Given the description of an element on the screen output the (x, y) to click on. 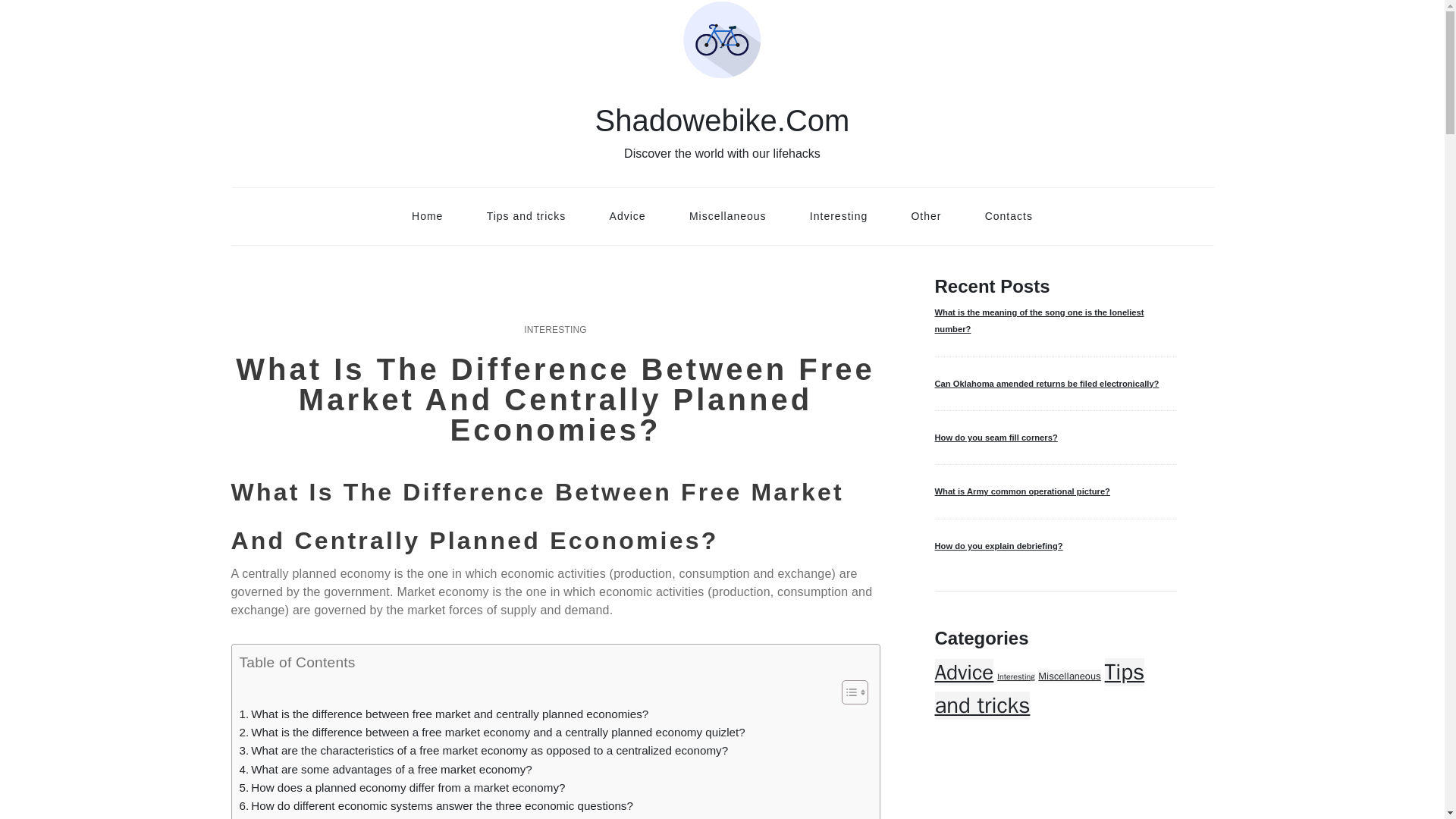
Miscellaneous (727, 215)
Contacts (1008, 215)
Home (427, 215)
INTERESTING (555, 329)
How does a planned economy differ from a market economy? (403, 787)
Shadowebike.Com (722, 120)
How does a planned economy differ from a market economy? (403, 787)
What are some advantages of a free market economy? (386, 769)
